Given the description of an element on the screen output the (x, y) to click on. 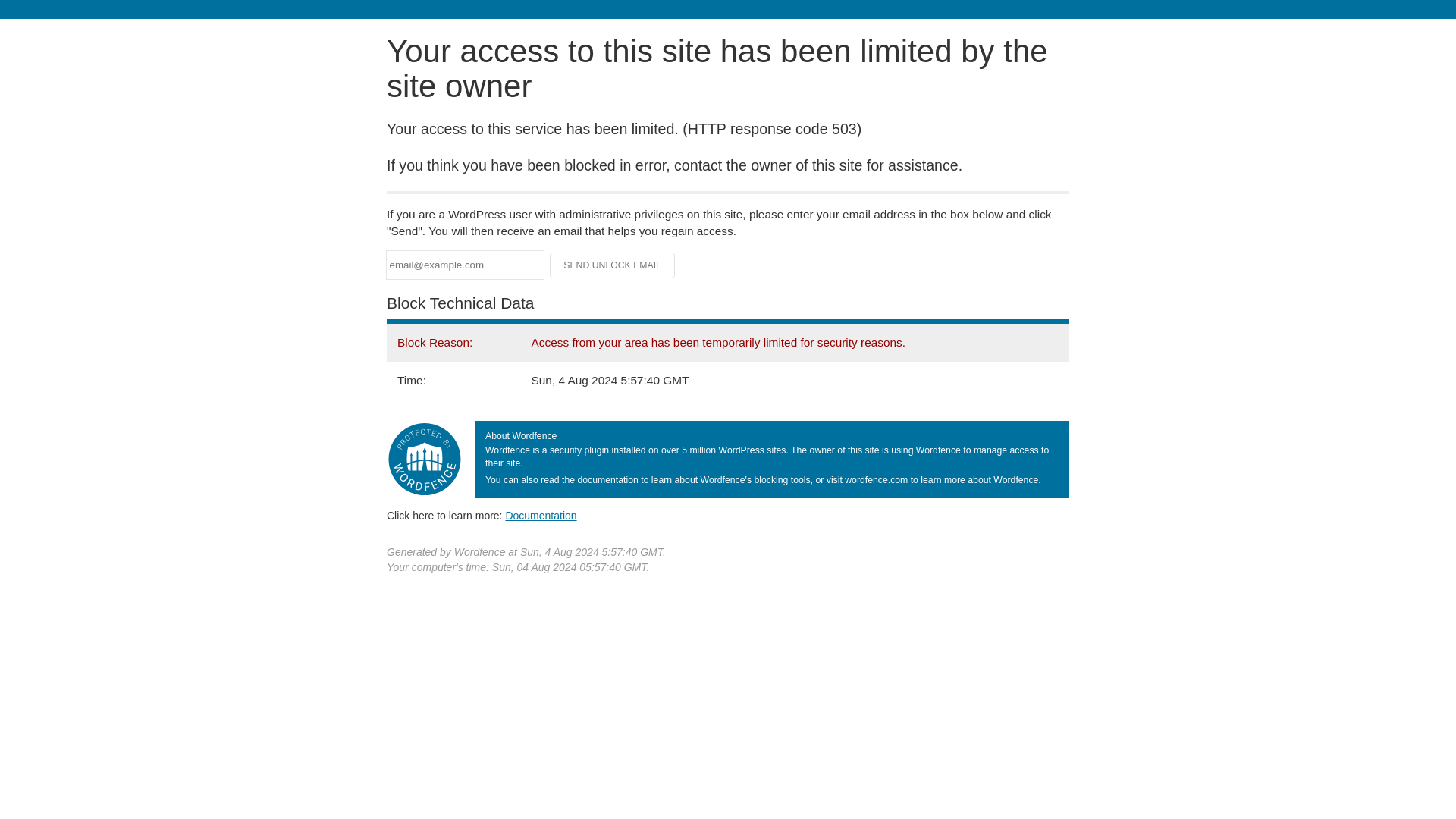
Send Unlock Email (612, 265)
Send Unlock Email (612, 265)
Documentation (540, 515)
